Given the description of an element on the screen output the (x, y) to click on. 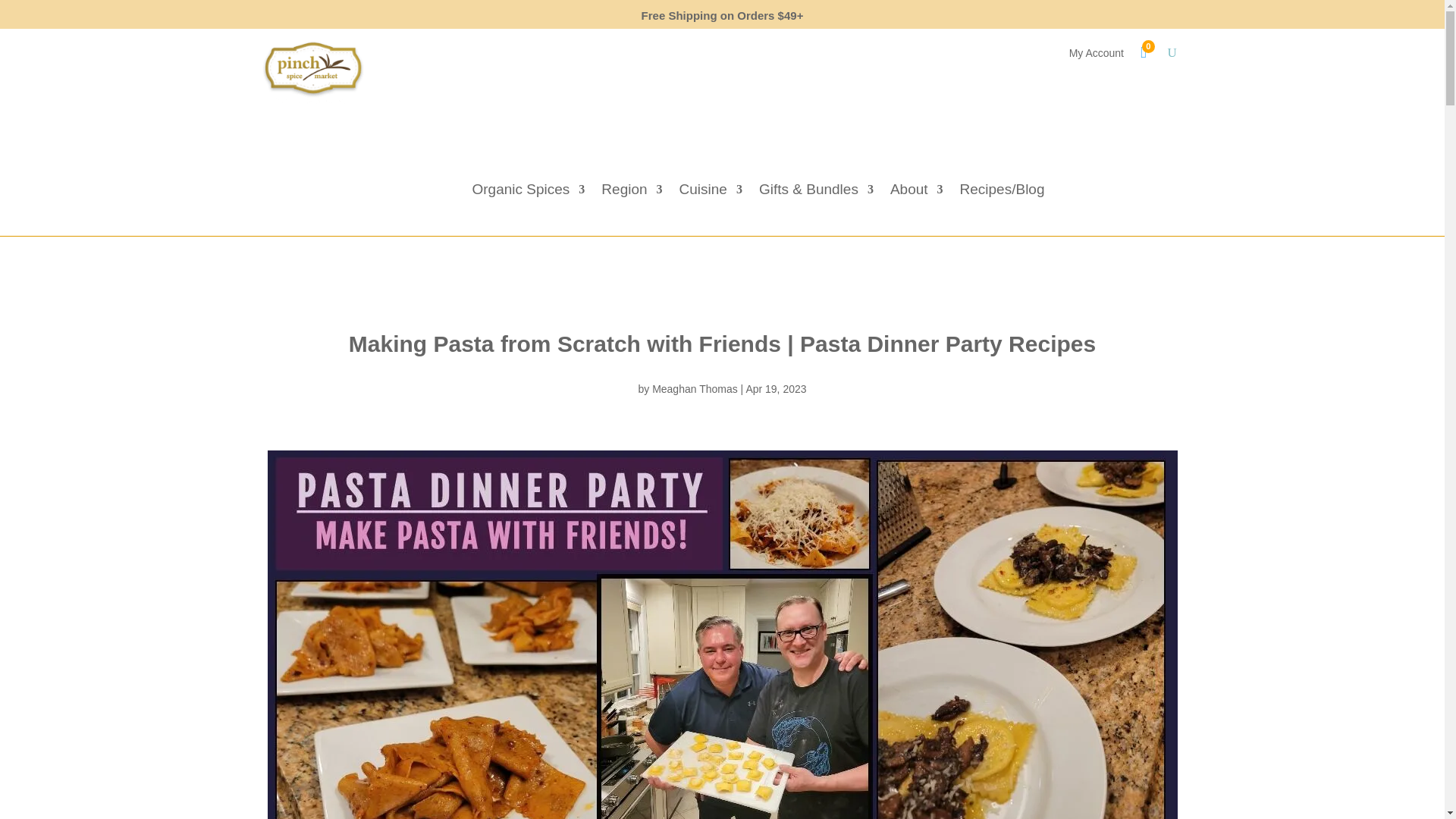
Cuisine (710, 192)
Pinch spices logo for Head (312, 72)
Region (631, 192)
Organic Spices (528, 192)
My Account (1096, 55)
